Given the description of an element on the screen output the (x, y) to click on. 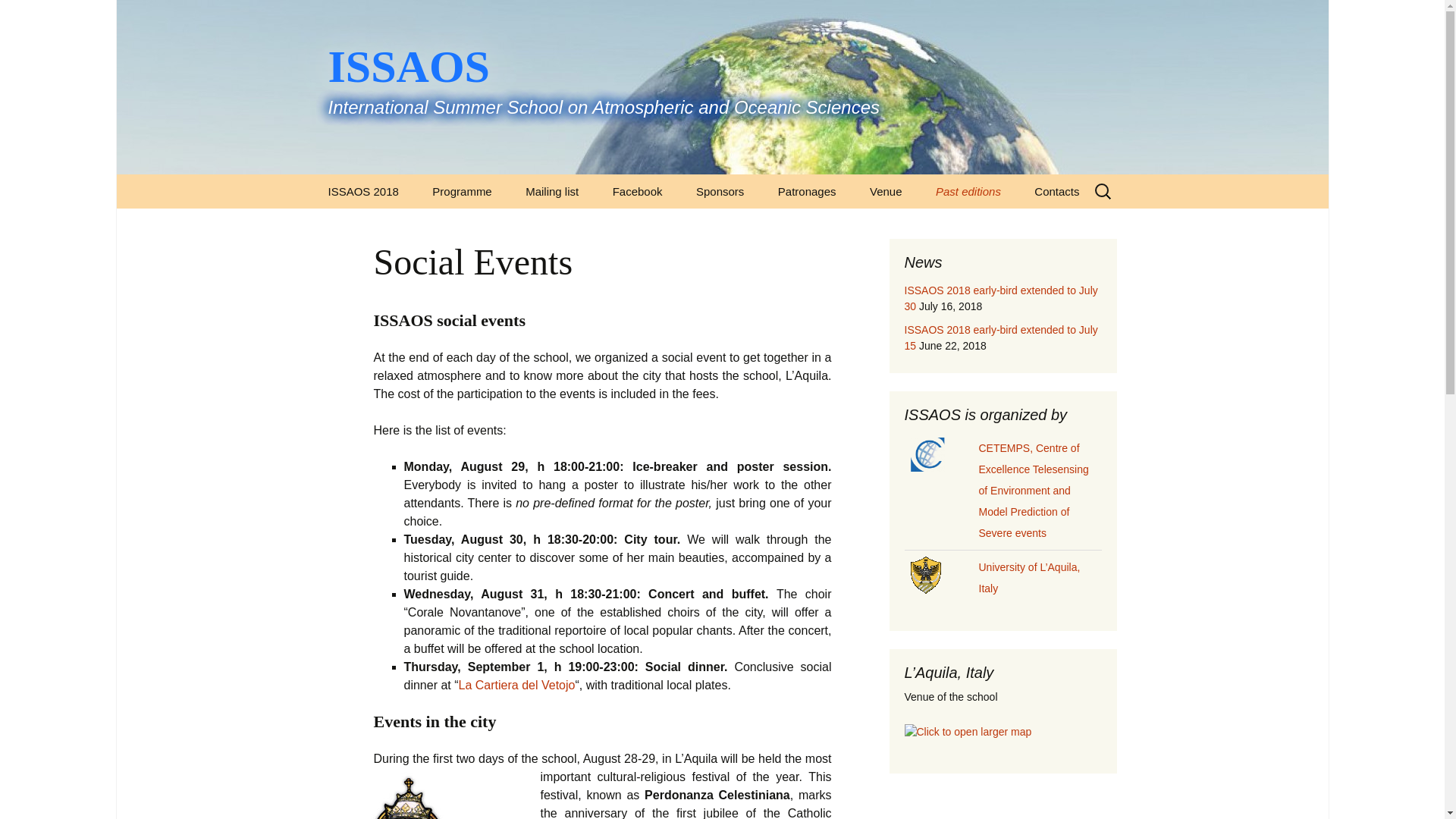
Past editions (968, 191)
Programme (461, 191)
ISSAOS 2016 (995, 225)
Click to open larger map (967, 731)
Facebook (637, 191)
ISSAOS 2018 (363, 191)
Venue (930, 225)
Sponsors (719, 191)
Click to open larger map (967, 730)
Patronages (806, 191)
Programme (388, 225)
